Given the description of an element on the screen output the (x, y) to click on. 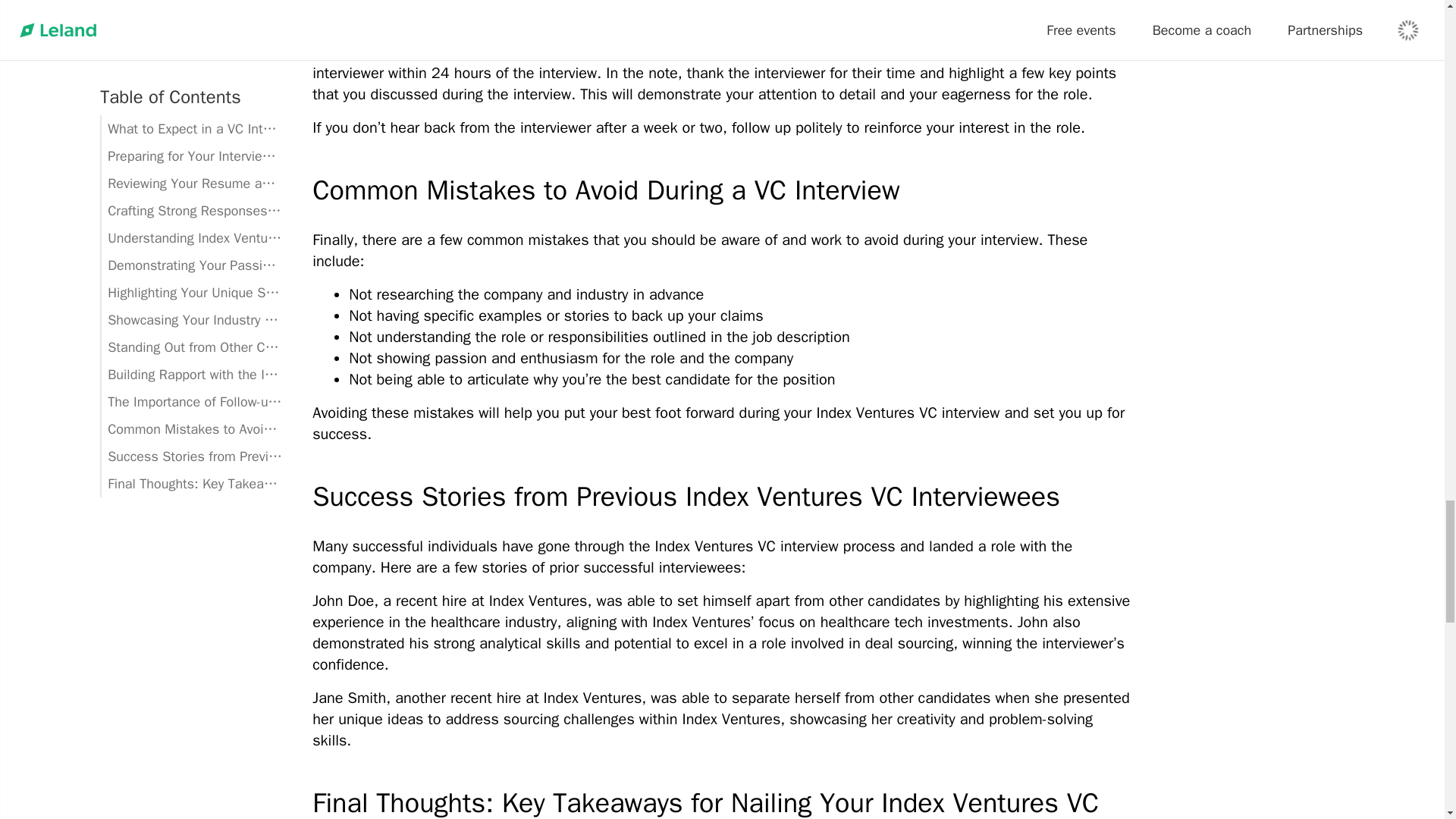
Common Mistakes to Avoid During a VC Interview (722, 190)
Success Stories from Previous Index Ventures VC Interviewees (722, 496)
